Given the description of an element on the screen output the (x, y) to click on. 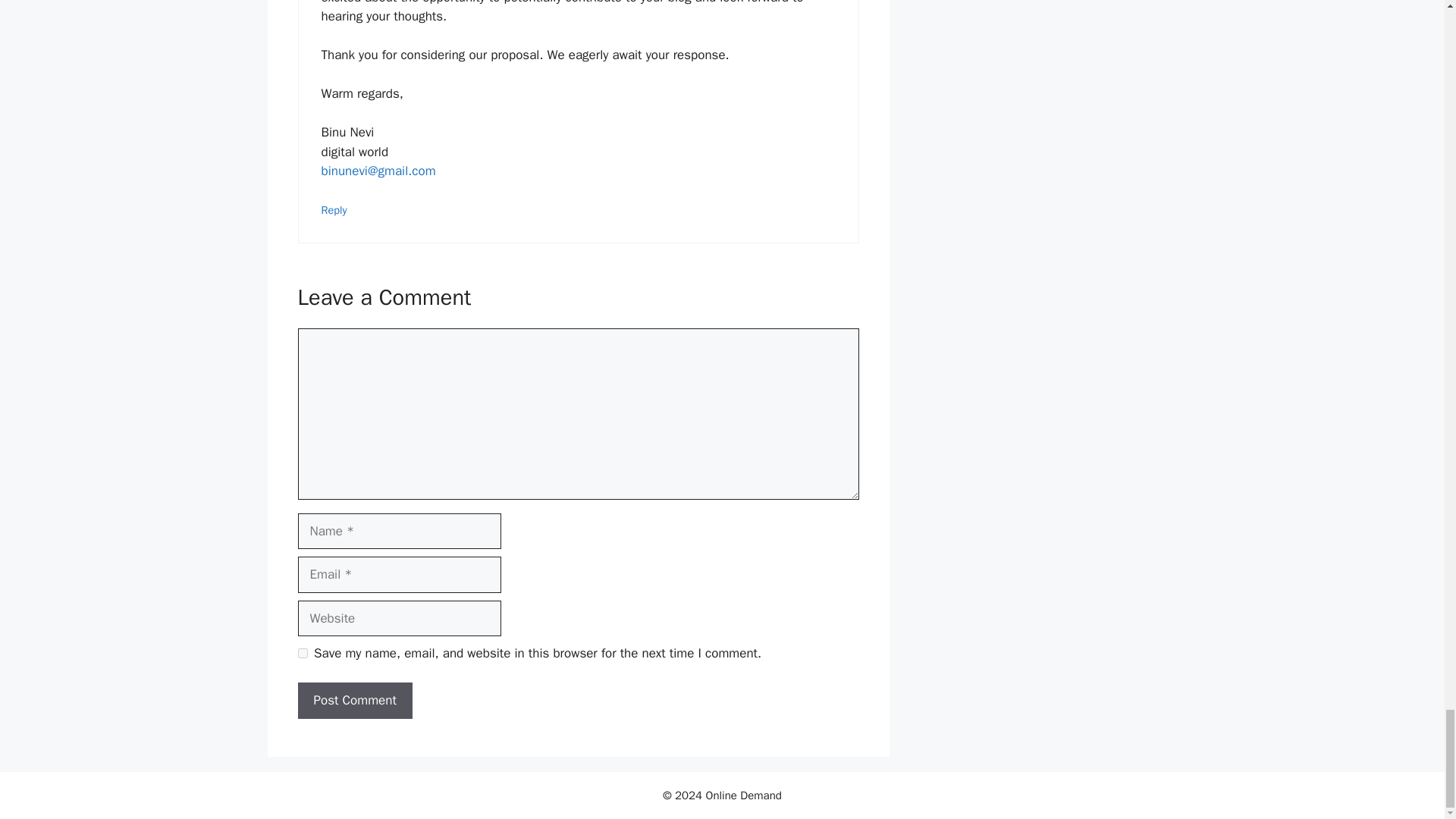
Post Comment (354, 700)
yes (302, 653)
